Given the description of an element on the screen output the (x, y) to click on. 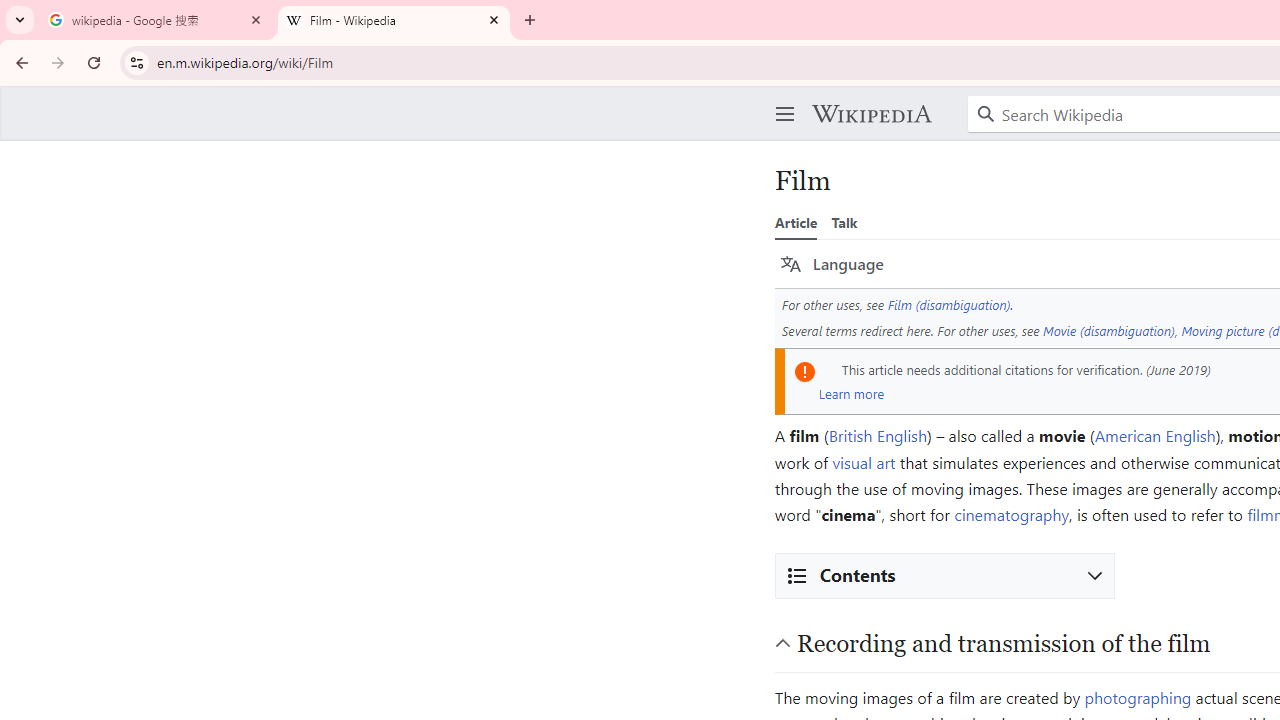
verification (1108, 369)
British English (877, 435)
Wikipedia (871, 114)
Film (disambiguation) (949, 304)
Talk (843, 222)
cinematography (1011, 514)
Film - Wikipedia (394, 20)
Article (795, 222)
Movie (disambiguation) (1109, 330)
American English (1155, 435)
visual art (864, 461)
